Given the description of an element on the screen output the (x, y) to click on. 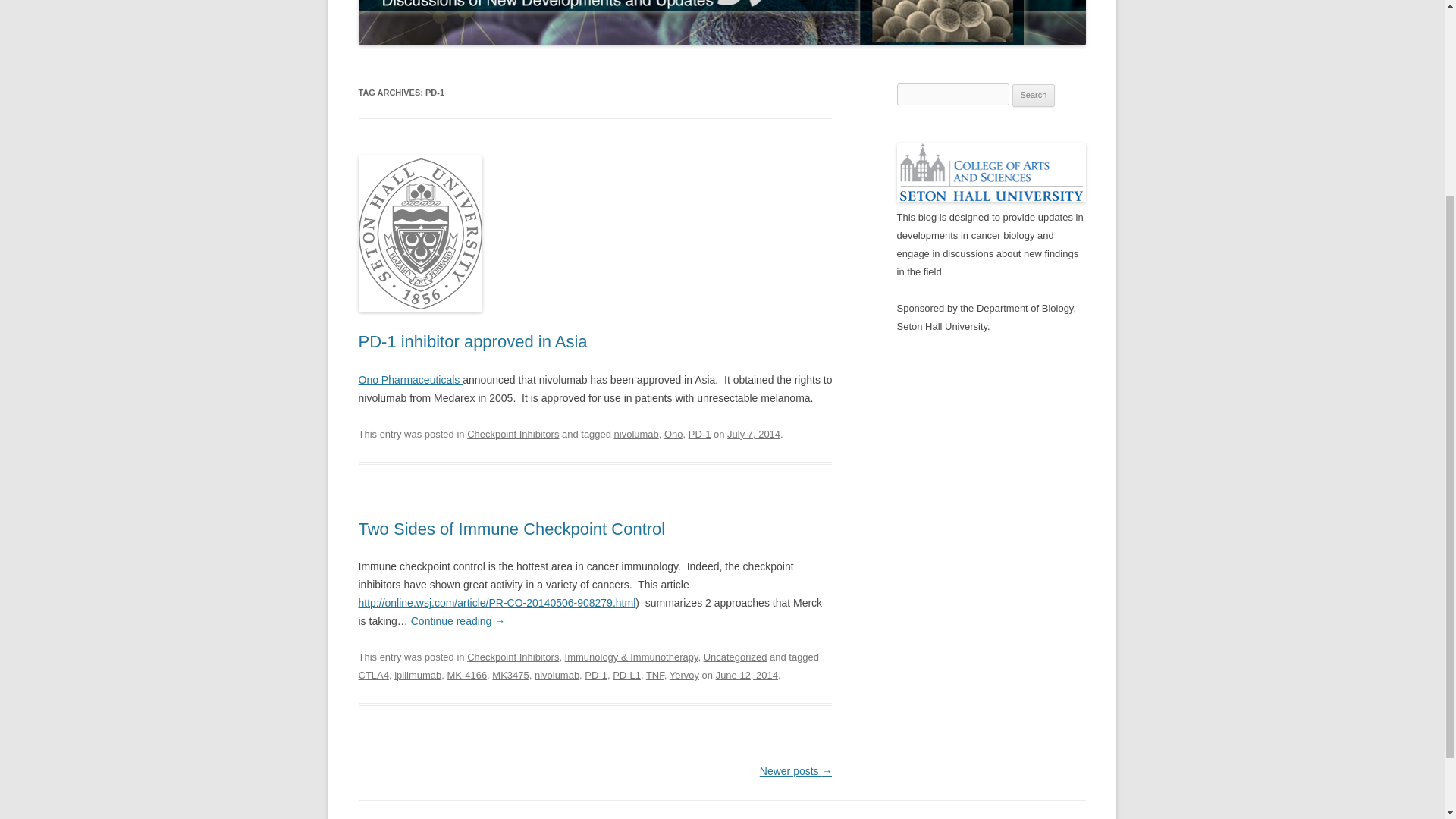
Search (1033, 95)
10:52 am (746, 674)
6:18 pm (753, 433)
